Given the description of an element on the screen output the (x, y) to click on. 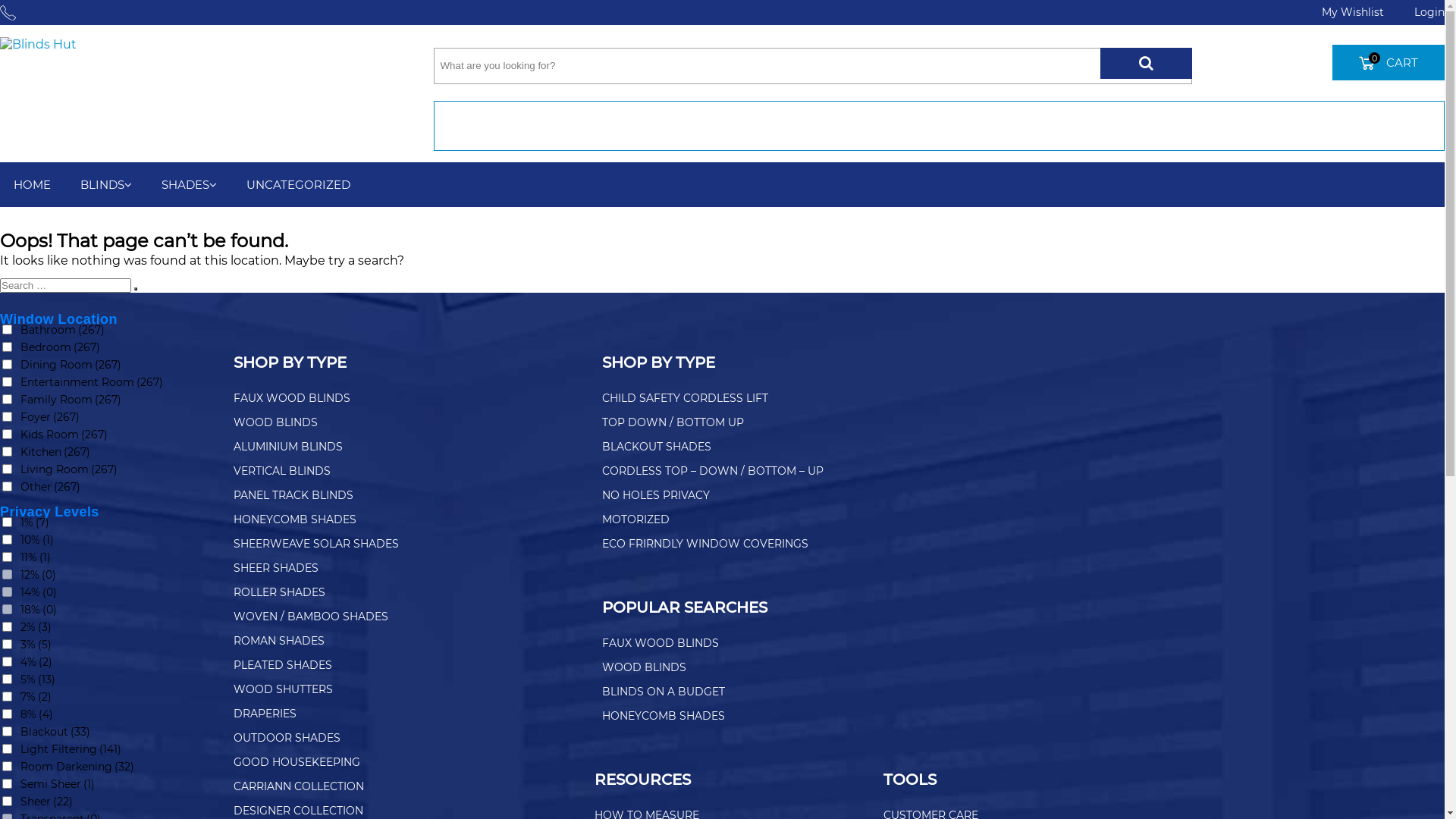
SHEERWEAVE SOLAR SHADES Element type: text (315, 543)
BLACKOUT SHADES Element type: text (656, 446)
SHEER SHADES Element type: text (275, 567)
DESIGNER COLLECTION Element type: text (298, 810)
NO HOLES PRIVACY Element type: text (655, 495)
OUTDOOR SHADES Element type: text (286, 737)
GOOD HOUSEKEEPING Element type: text (296, 761)
FAUX WOOD BLINDS Element type: text (291, 397)
HOME Element type: text (32, 184)
Login Element type: text (1421, 11)
ECO FRIRNDLY WINDOW COVERINGS Element type: text (705, 543)
TOP DOWN / BOTTOM UP Element type: text (672, 422)
HONEYCOMB SHADES Element type: text (294, 519)
WOOD BLINDS Element type: text (275, 422)
DRAPERIES Element type: text (264, 713)
PLEATED SHADES Element type: text (282, 664)
My Wishlist Element type: text (1352, 11)
SHADES Element type: text (188, 184)
WOOD SHUTTERS Element type: text (282, 689)
CART
0 Element type: text (1388, 62)
WOVEN / BAMBOO SHADES Element type: text (310, 616)
ROMAN SHADES Element type: text (278, 640)
CARRIANN COLLECTION Element type: text (298, 786)
UNCATEGORIZED Element type: text (298, 184)
ALUMINIUM BLINDS Element type: text (287, 446)
FAUX WOOD BLINDS Element type: text (660, 642)
WOOD BLINDS Element type: text (644, 667)
Search Element type: text (135, 288)
MOTORIZED Element type: text (635, 519)
ROLLER SHADES Element type: text (279, 592)
VERTICAL BLINDS Element type: text (281, 470)
BLINDS ON A BUDGET Element type: text (663, 691)
BLINDS Element type: text (105, 184)
PANEL TRACK BLINDS Element type: text (293, 495)
CHILD SAFETY CORDLESS LIFT Element type: text (685, 397)
HONEYCOMB SHADES Element type: text (663, 715)
